Given the description of an element on the screen output the (x, y) to click on. 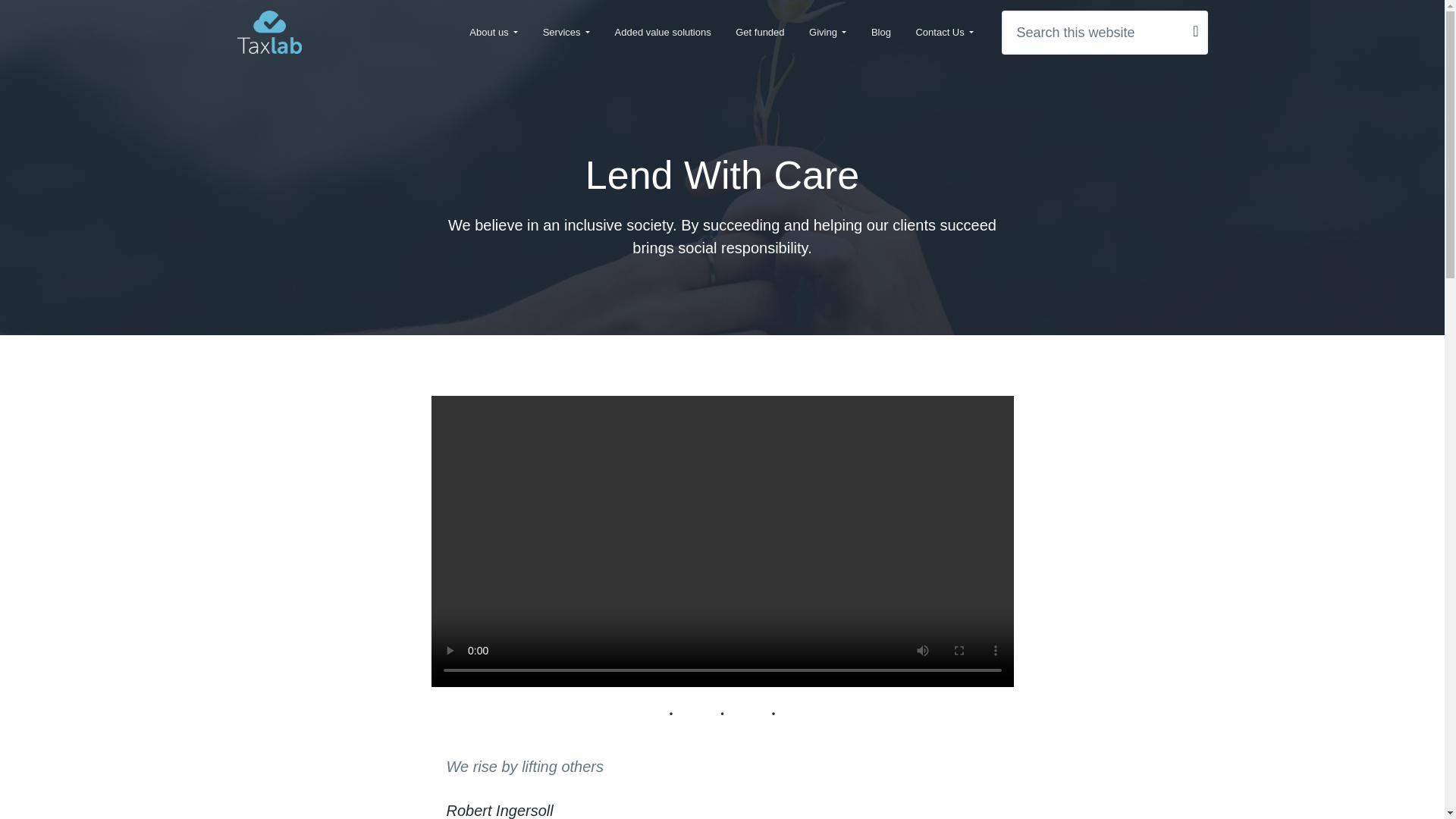
Services (565, 31)
About us (493, 31)
